Given the description of an element on the screen output the (x, y) to click on. 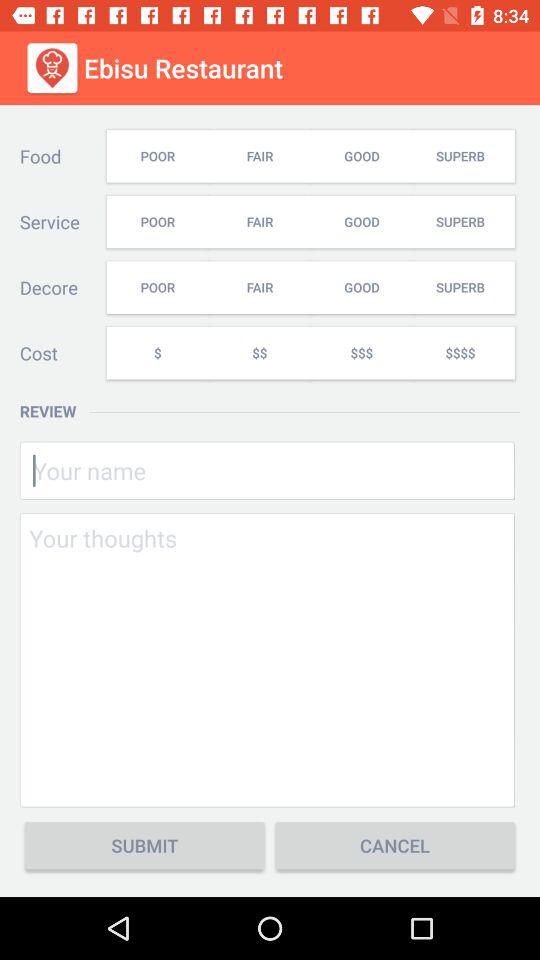
press the icon at the bottom left corner (144, 845)
